Given the description of an element on the screen output the (x, y) to click on. 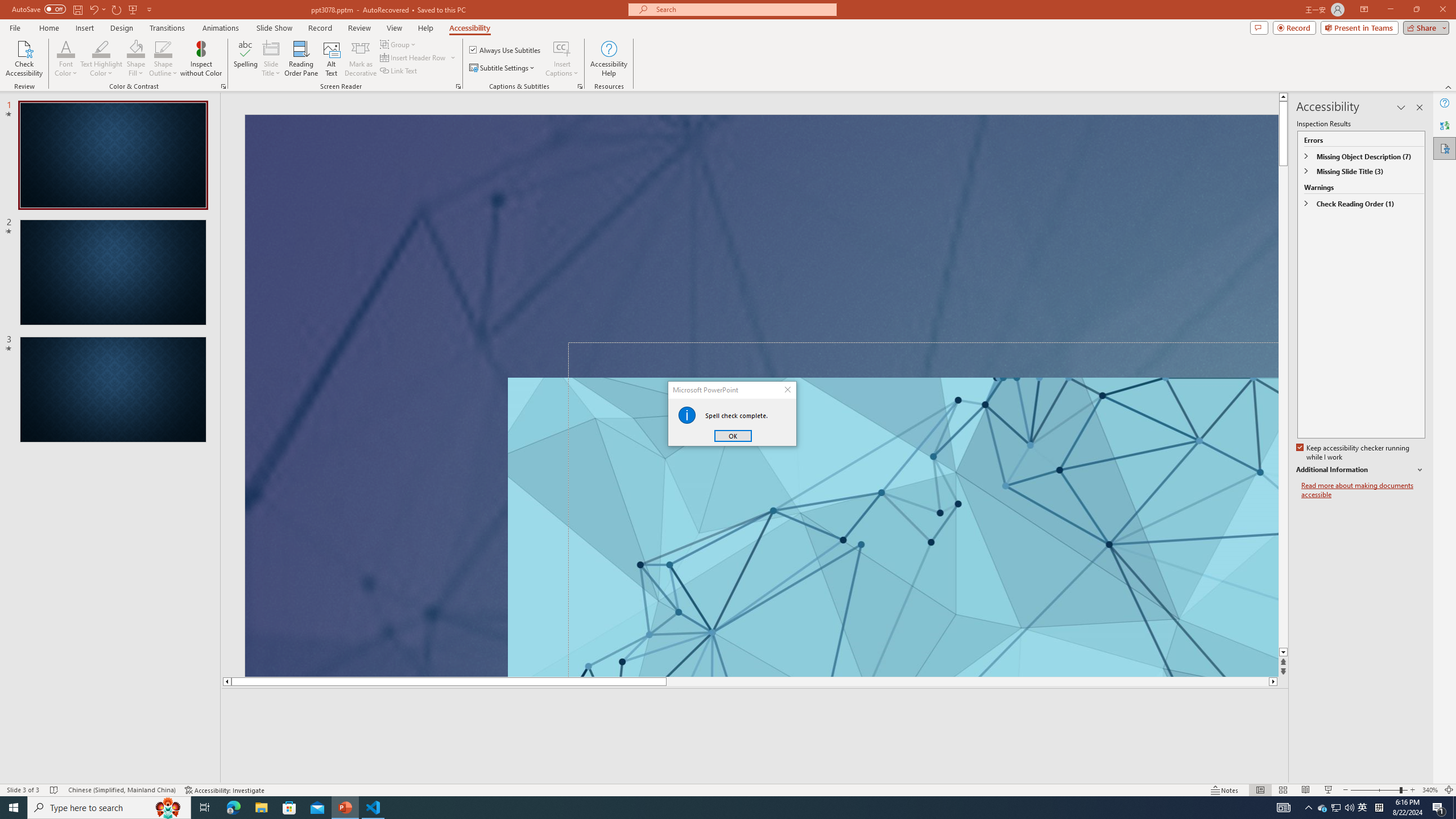
Text Highlight Color (1335, 807)
Slide Title (100, 58)
Accessibility Help (271, 58)
Shape Fill (608, 58)
Text Highlight Color (135, 48)
Task View (100, 48)
PowerPoint - 1 running window (204, 807)
Translator (345, 807)
